Given the description of an element on the screen output the (x, y) to click on. 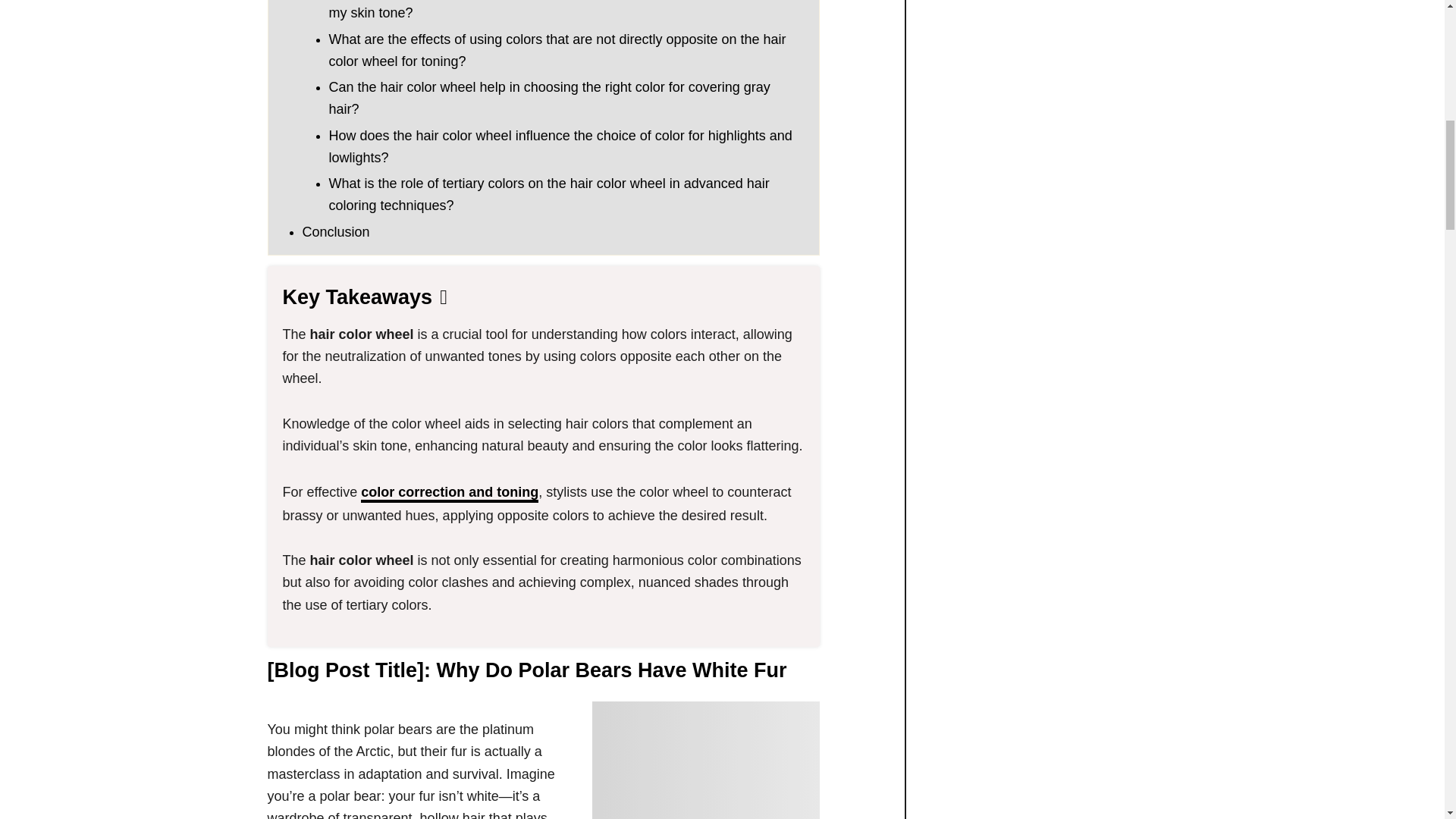
color correction and toning (449, 493)
Conclusion (335, 231)
